Given the description of an element on the screen output the (x, y) to click on. 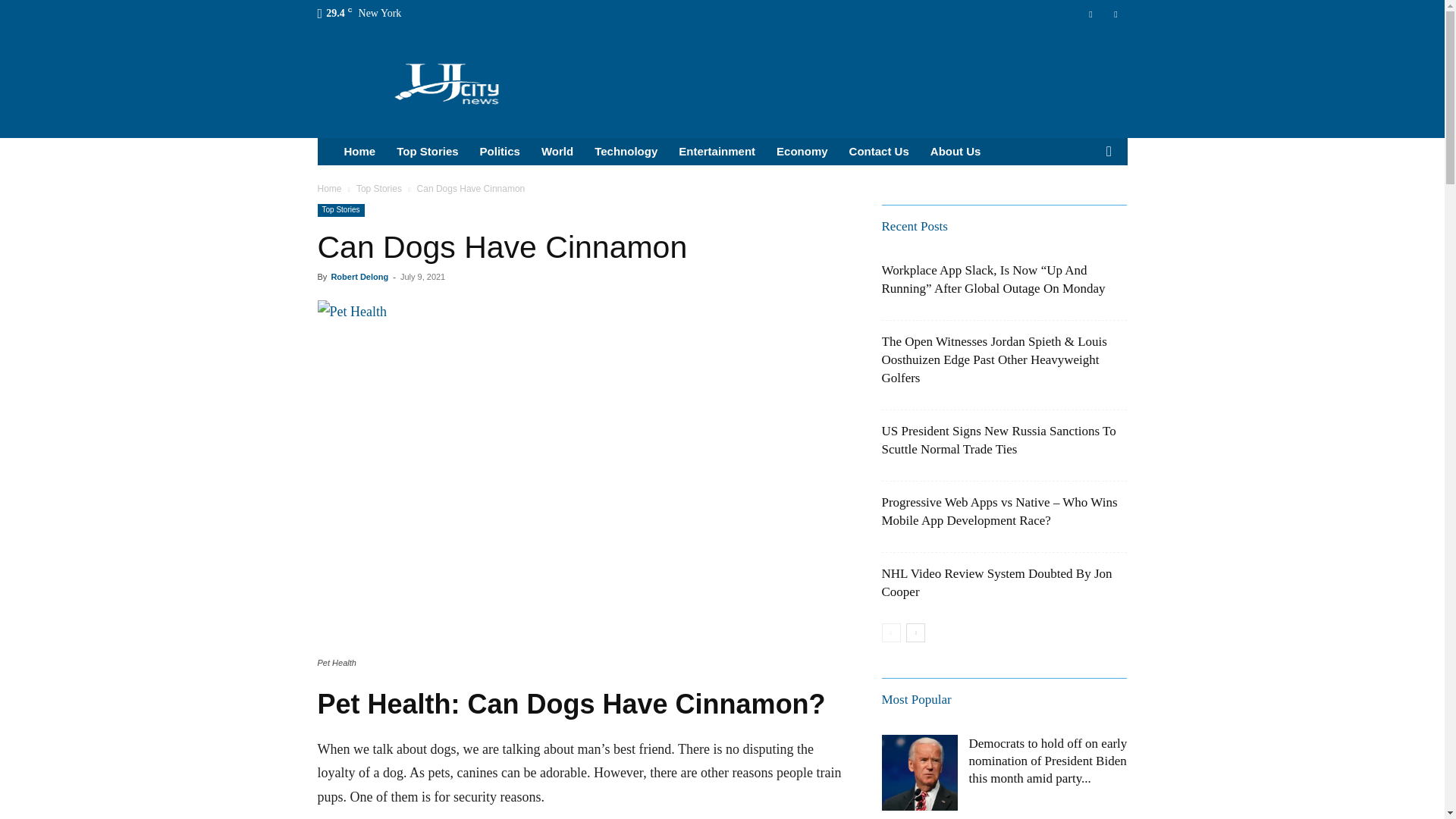
Economy (801, 151)
The Union Journal (446, 82)
Politics (499, 151)
Contact Us (879, 151)
Technology (625, 151)
View all posts in Top Stories (378, 188)
Home (360, 151)
Top Stories (426, 151)
Top Stories (378, 188)
About Us (955, 151)
Top Stories (340, 210)
Home (328, 188)
Entertainment (716, 151)
World (557, 151)
